Given the description of an element on the screen output the (x, y) to click on. 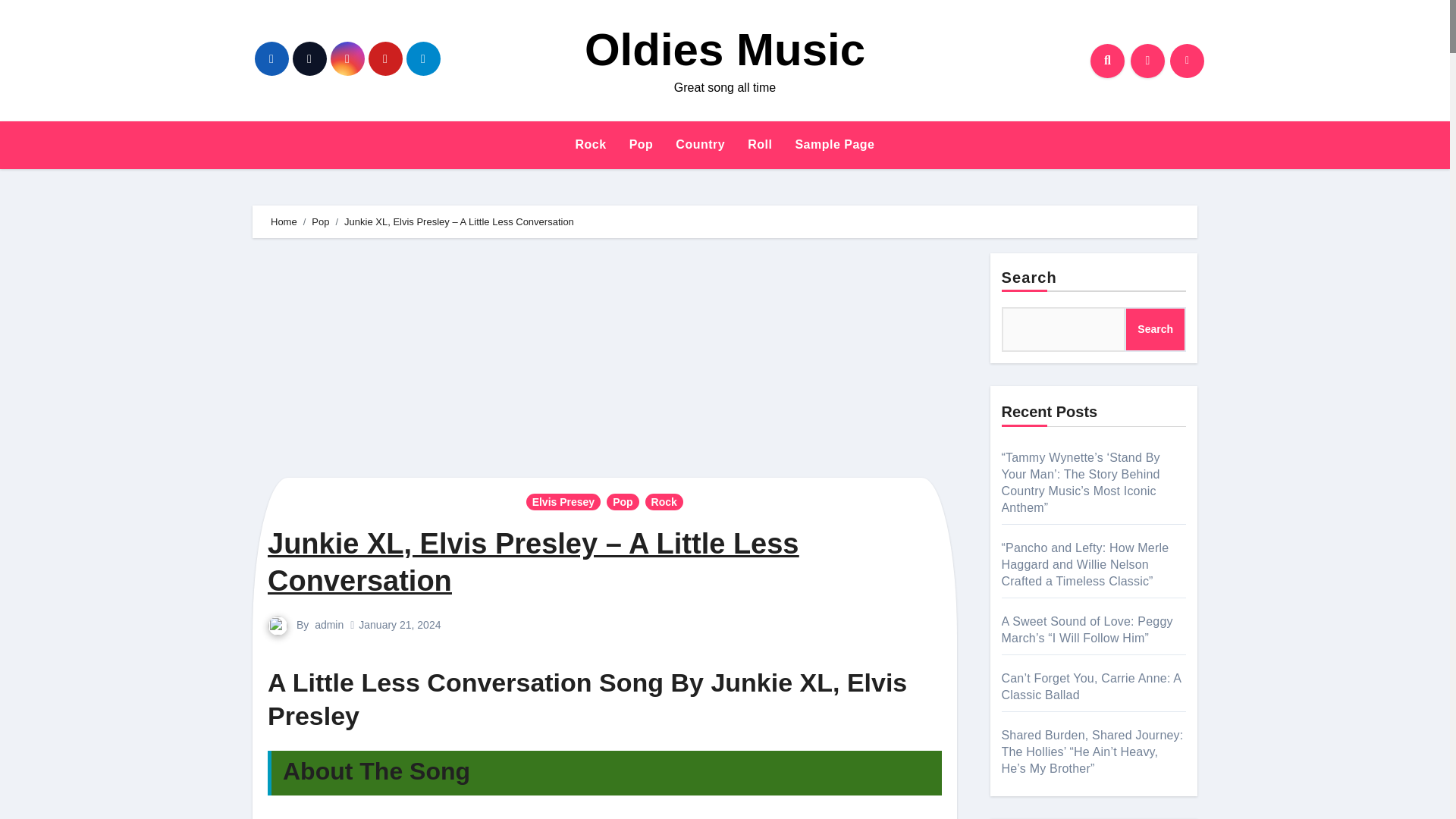
admin (328, 624)
Roll (759, 144)
Pop (641, 144)
Sample Page (834, 144)
Country (699, 144)
Elvis Presey (563, 501)
Oldies Music (724, 49)
Pop (623, 501)
Rock (590, 144)
Roll (759, 144)
